Given the description of an element on the screen output the (x, y) to click on. 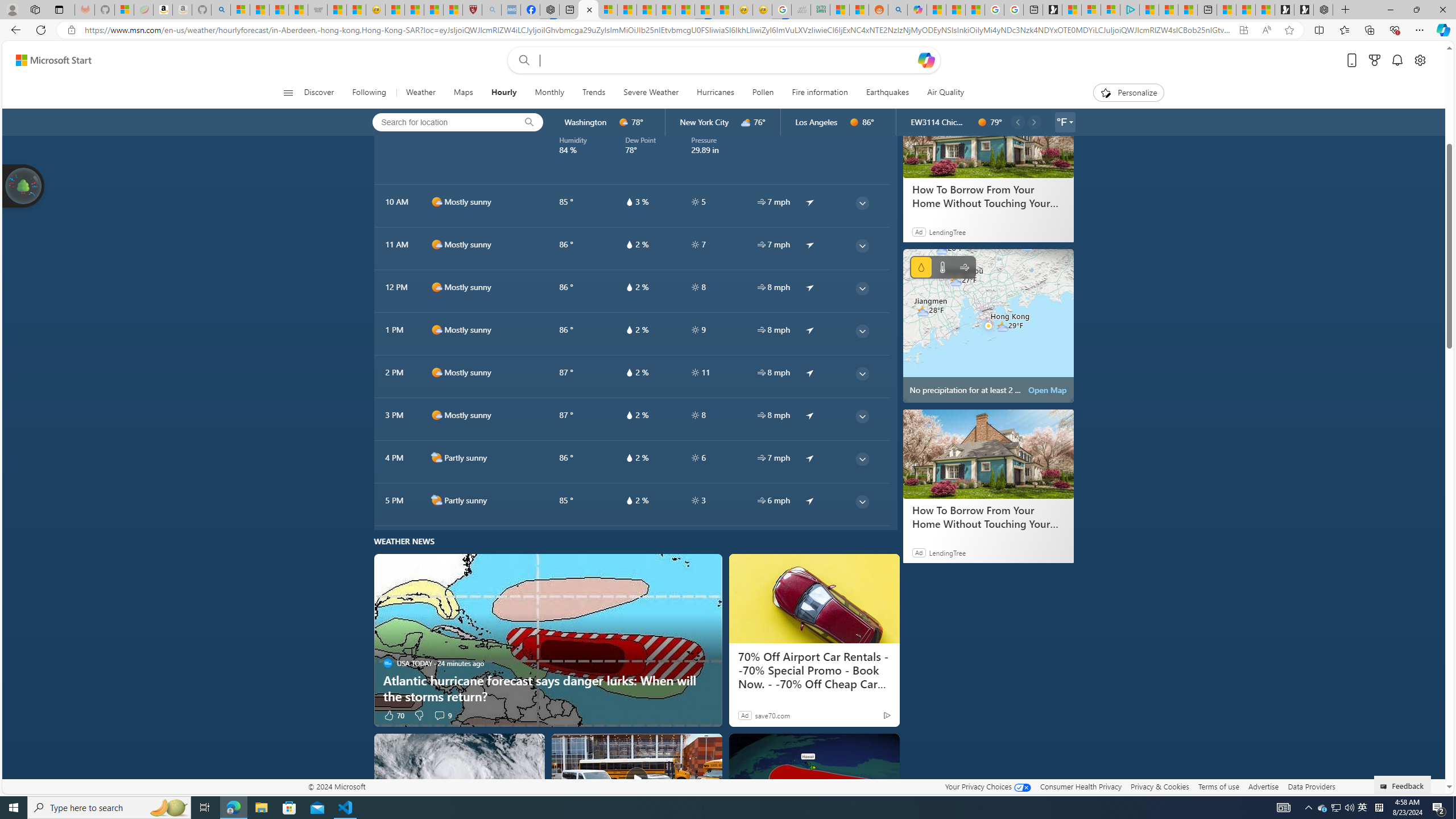
Wind (964, 267)
d1000 (436, 414)
static map image of vector map (988, 325)
Severe Weather (651, 92)
Open Map (1047, 390)
Air Quality (940, 92)
Hourly (503, 92)
